Given the description of an element on the screen output the (x, y) to click on. 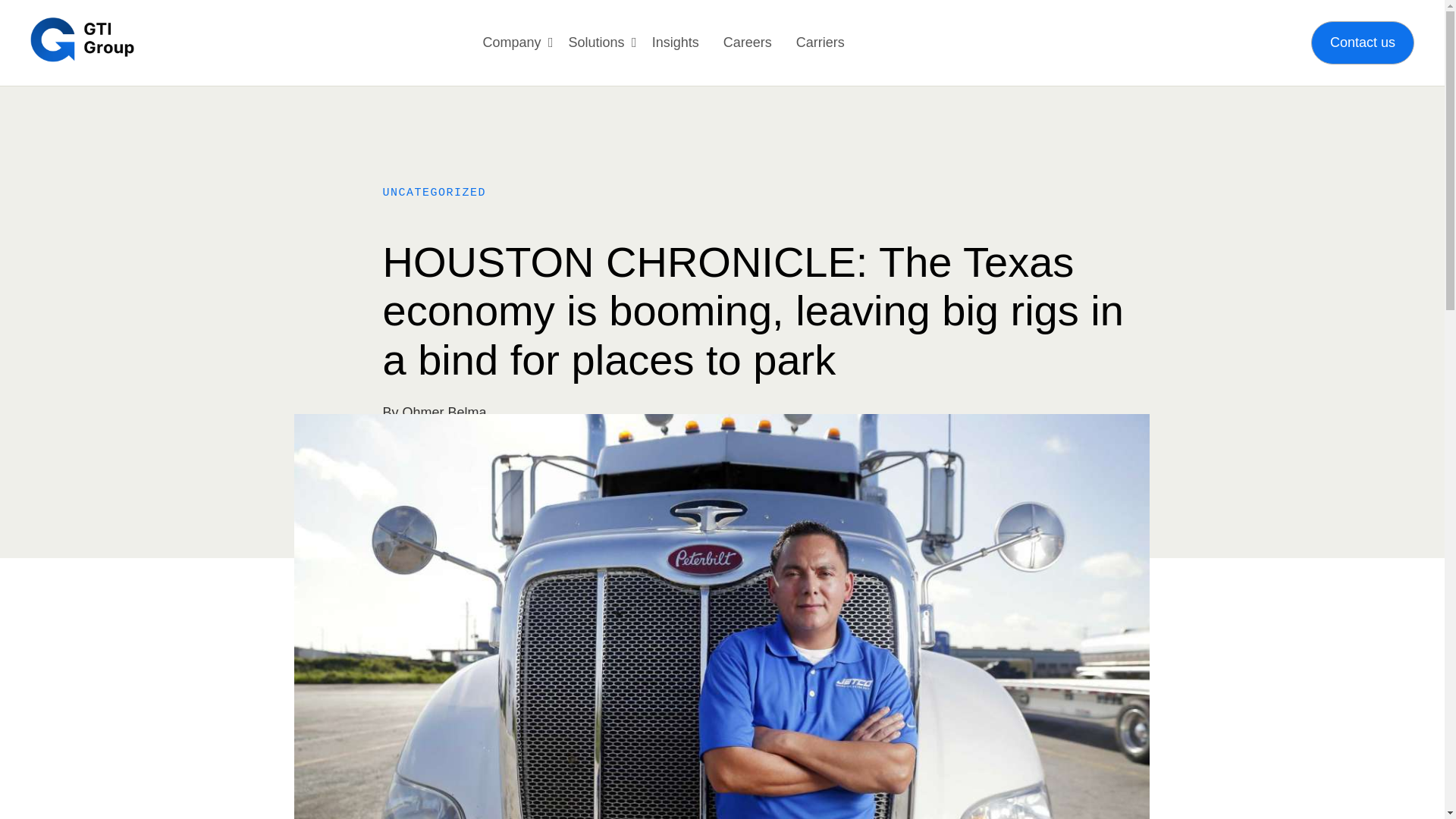
Careers (747, 42)
Solutions (596, 42)
Company (512, 42)
Carriers (820, 42)
Contact us (1362, 42)
Insights (675, 42)
GTI Group (81, 39)
